Given the description of an element on the screen output the (x, y) to click on. 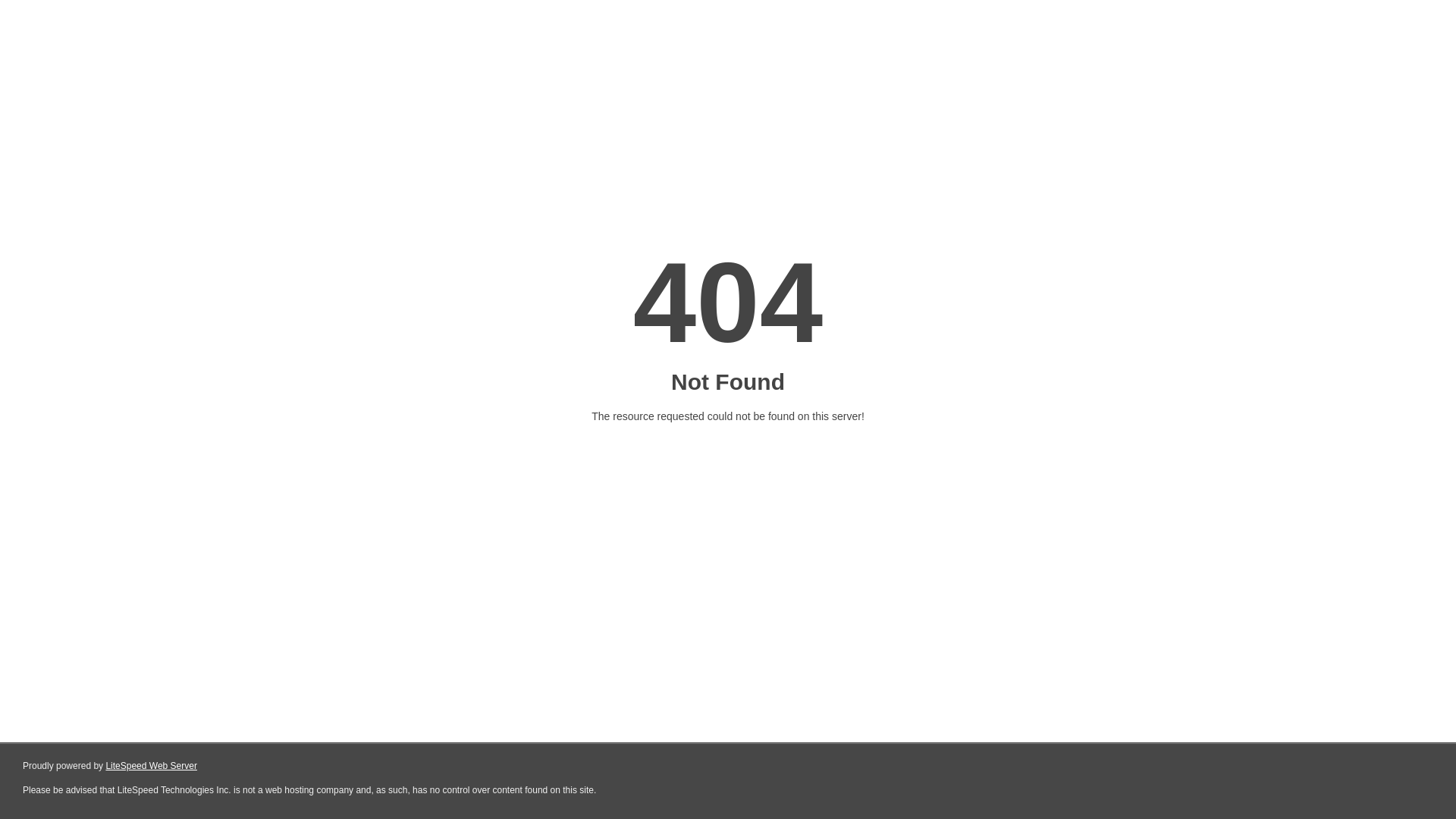
LiteSpeed Web Server Element type: text (151, 765)
